Given the description of an element on the screen output the (x, y) to click on. 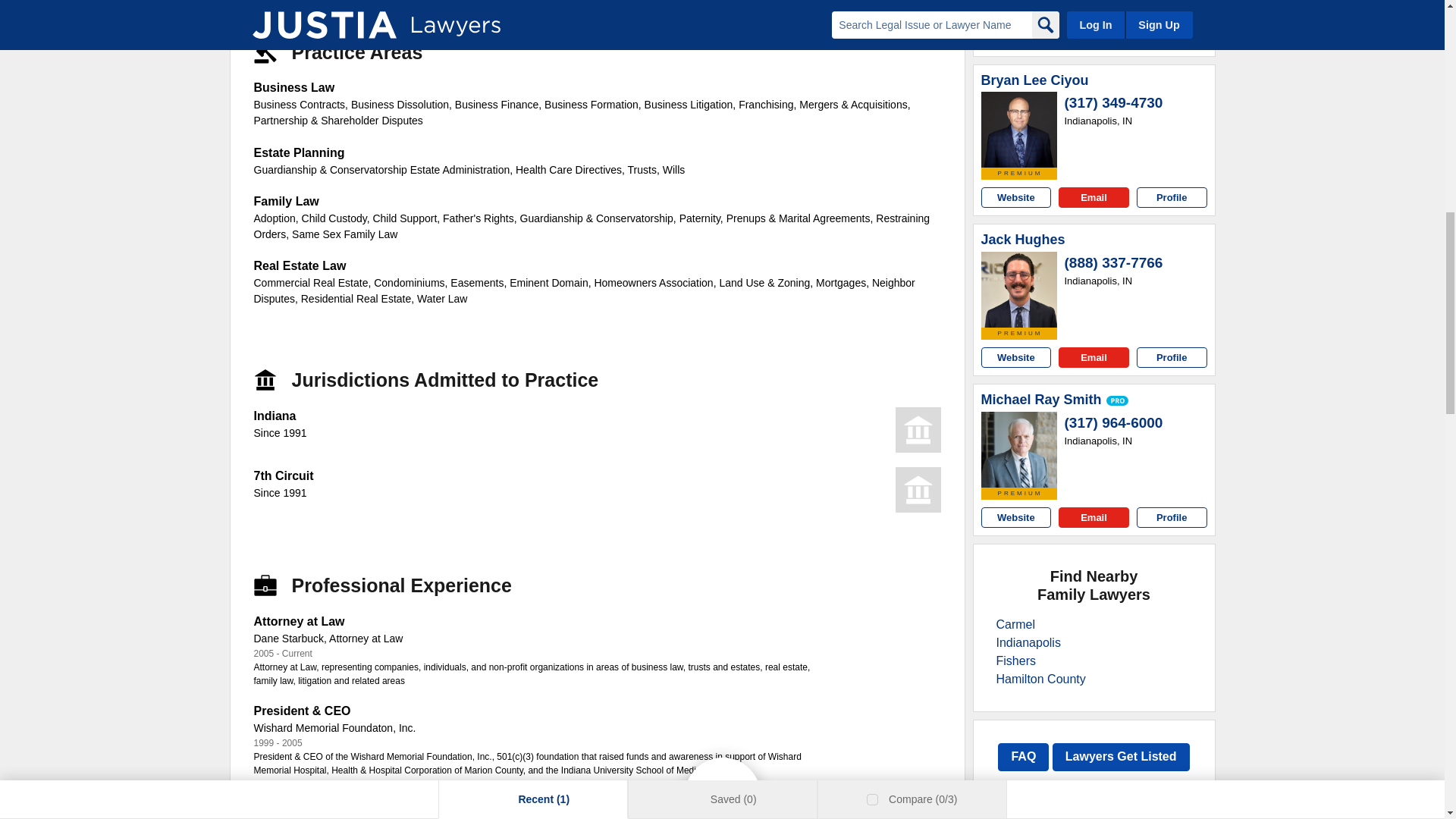
Michael Ray Smith (1041, 400)
Bryan Lee Ciyou (1019, 129)
Courtney L. Darcy (1019, 4)
Jack Hughes (1023, 239)
Bryan Lee Ciyou (1035, 80)
Jack Hughes (1019, 289)
